Given the description of an element on the screen output the (x, y) to click on. 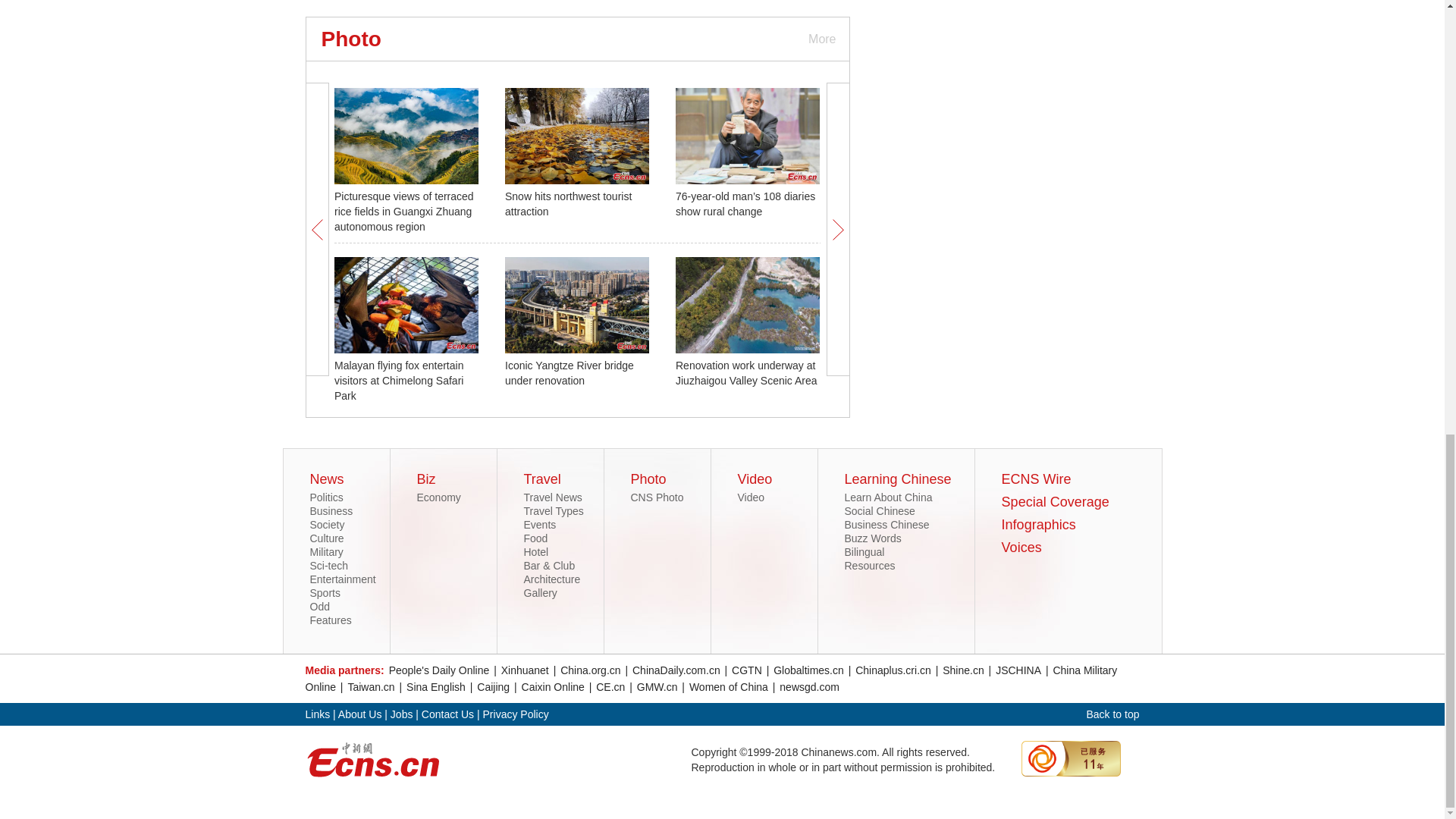
Snow hits northwest tourist attraction (568, 203)
Iconic Yangtze River bridge under renovation (569, 372)
